Given the description of an element on the screen output the (x, y) to click on. 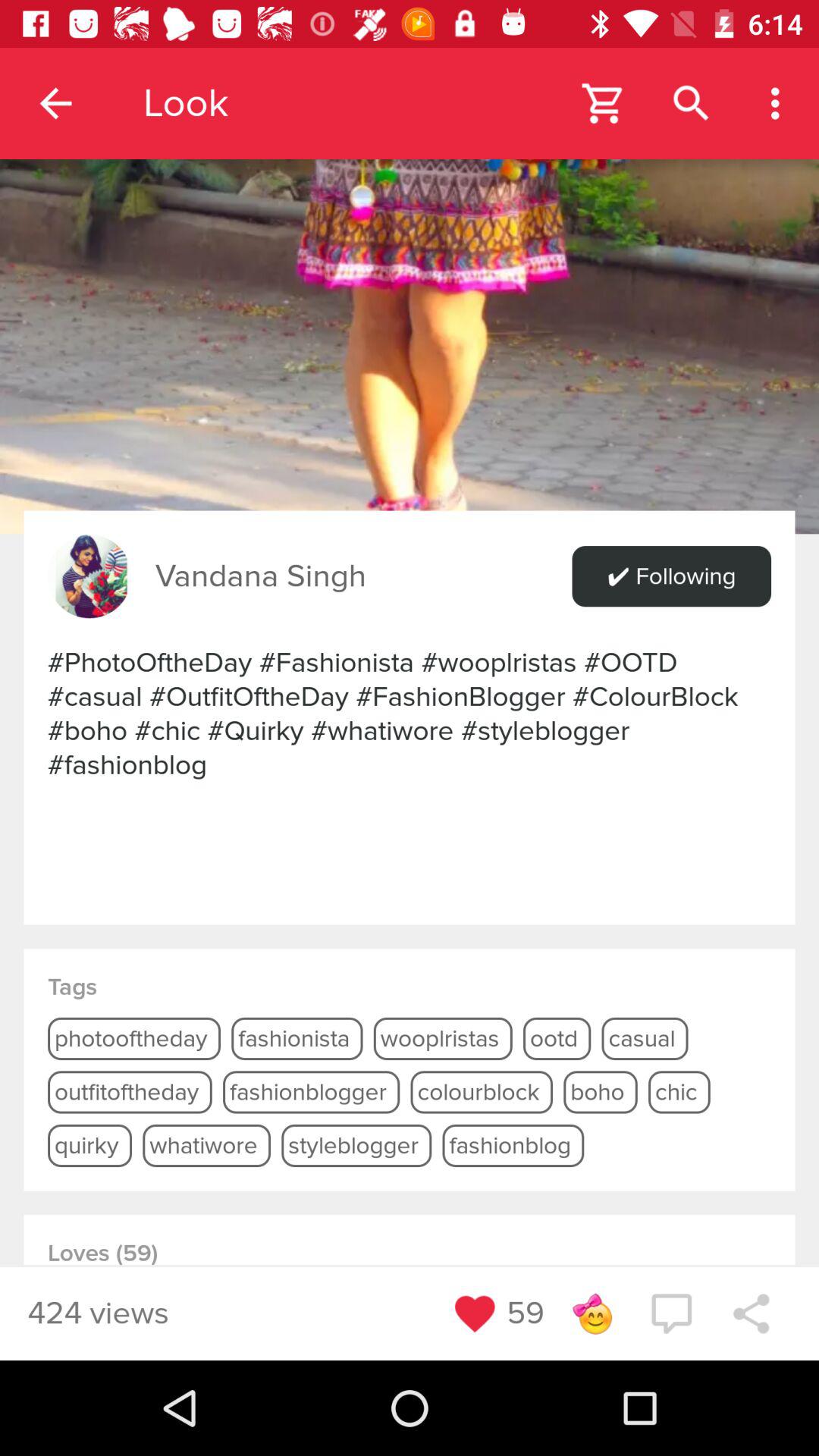
open icon to the left of 59 icon (474, 1313)
